Given the description of an element on the screen output the (x, y) to click on. 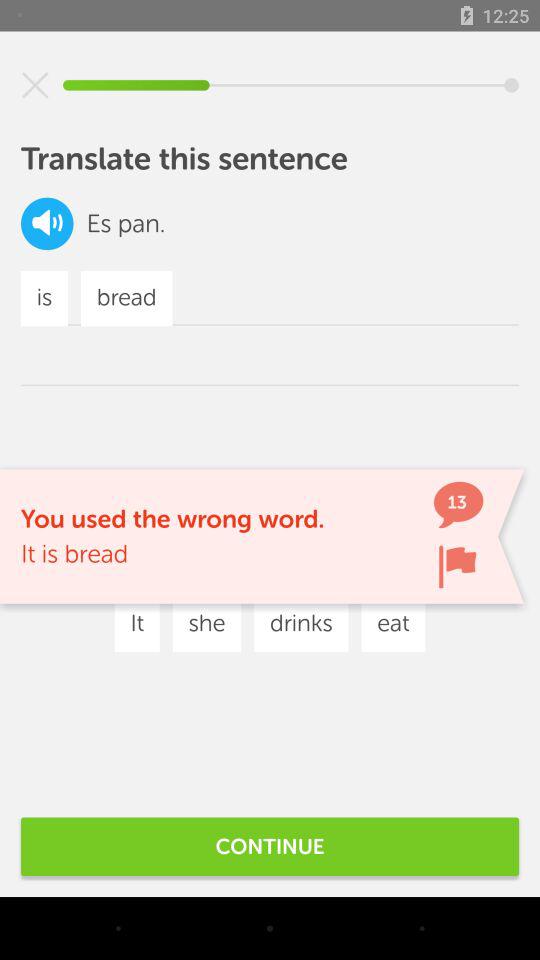
click the icon next to the drinks icon (187, 563)
